Given the description of an element on the screen output the (x, y) to click on. 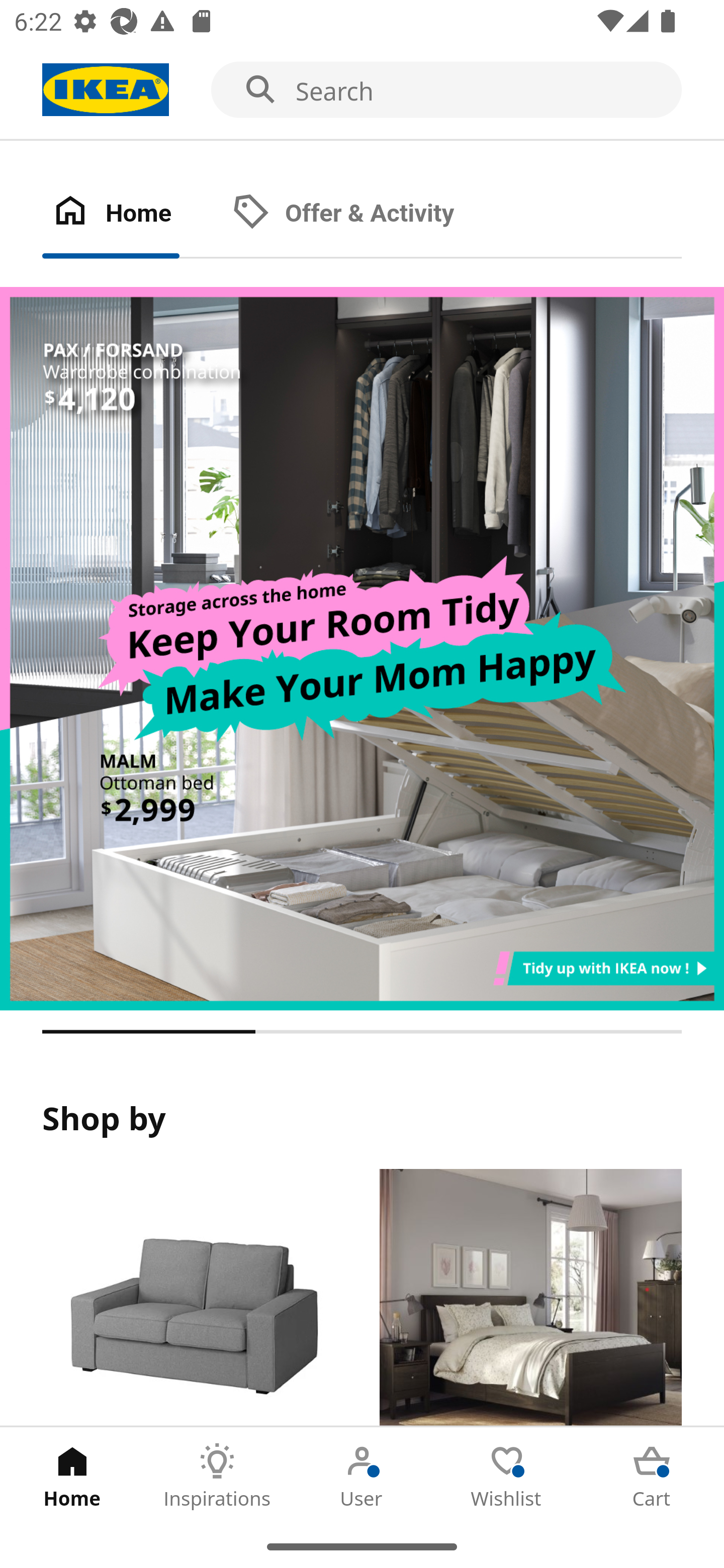
Search (361, 90)
Home
Tab 1 of 2 (131, 213)
Offer & Activity
Tab 2 of 2 (363, 213)
Products (192, 1297)
Rooms (530, 1297)
Home
Tab 1 of 5 (72, 1476)
Inspirations
Tab 2 of 5 (216, 1476)
User
Tab 3 of 5 (361, 1476)
Wishlist
Tab 4 of 5 (506, 1476)
Cart
Tab 5 of 5 (651, 1476)
